Given the description of an element on the screen output the (x, y) to click on. 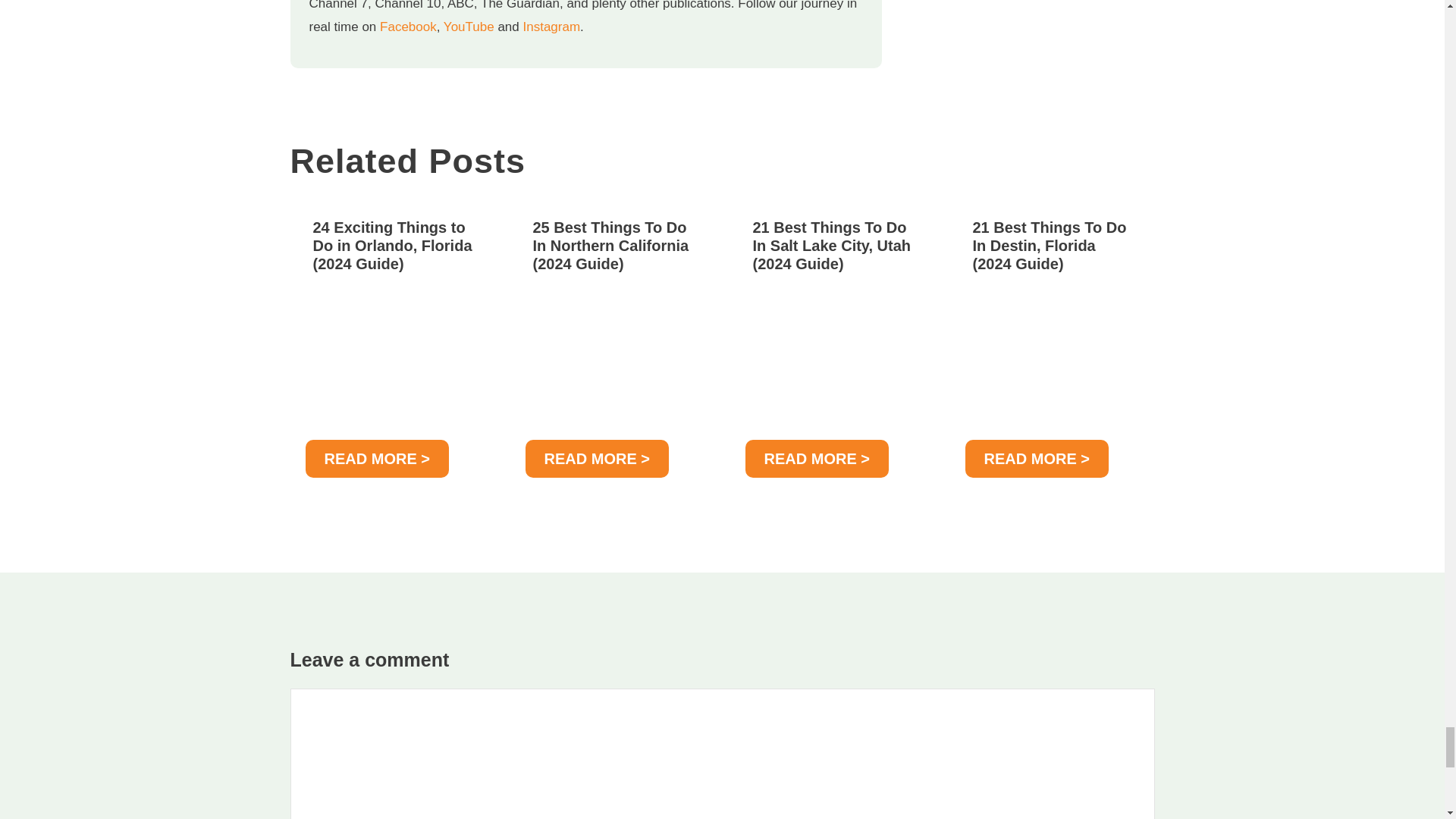
Facebook (408, 26)
YouTube (469, 26)
Instagram (550, 26)
